Given the description of an element on the screen output the (x, y) to click on. 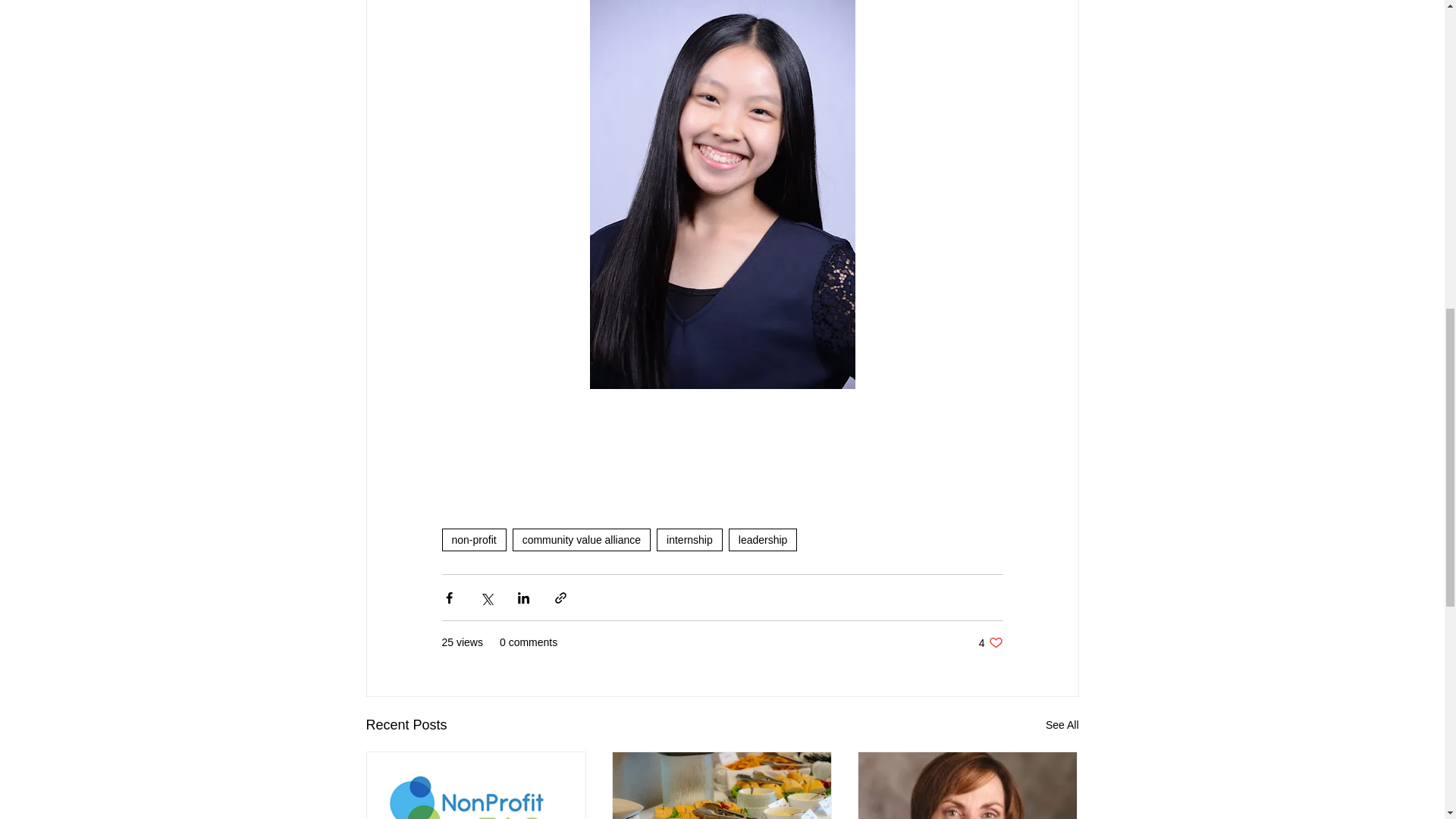
non-profit (473, 539)
community value alliance (581, 539)
internship (689, 539)
leadership (763, 539)
See All (990, 642)
